Given the description of an element on the screen output the (x, y) to click on. 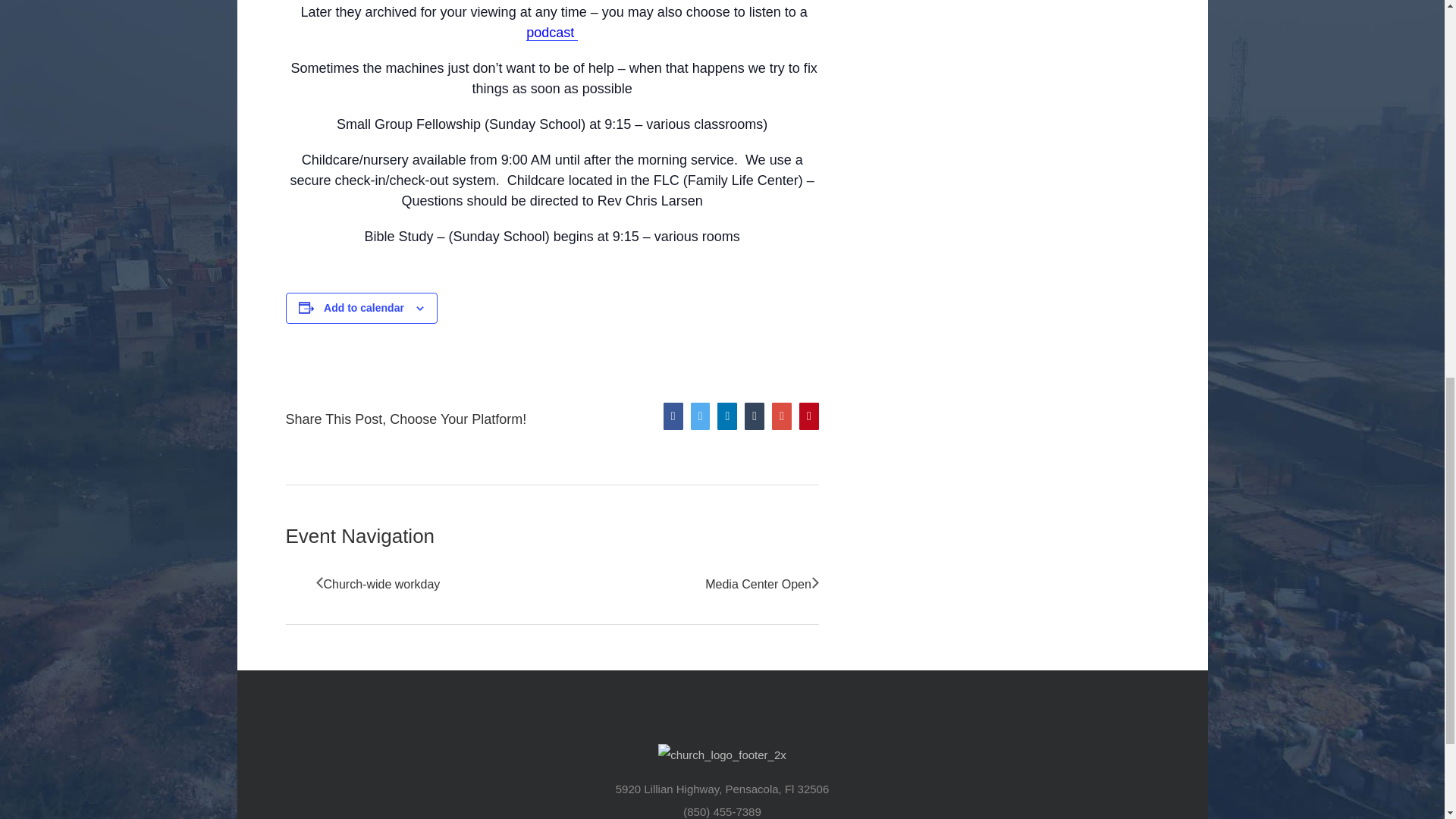
Media Center Open (753, 584)
Church-wide workday (385, 584)
podcast  (551, 32)
Add to calendar (363, 307)
